Given the description of an element on the screen output the (x, y) to click on. 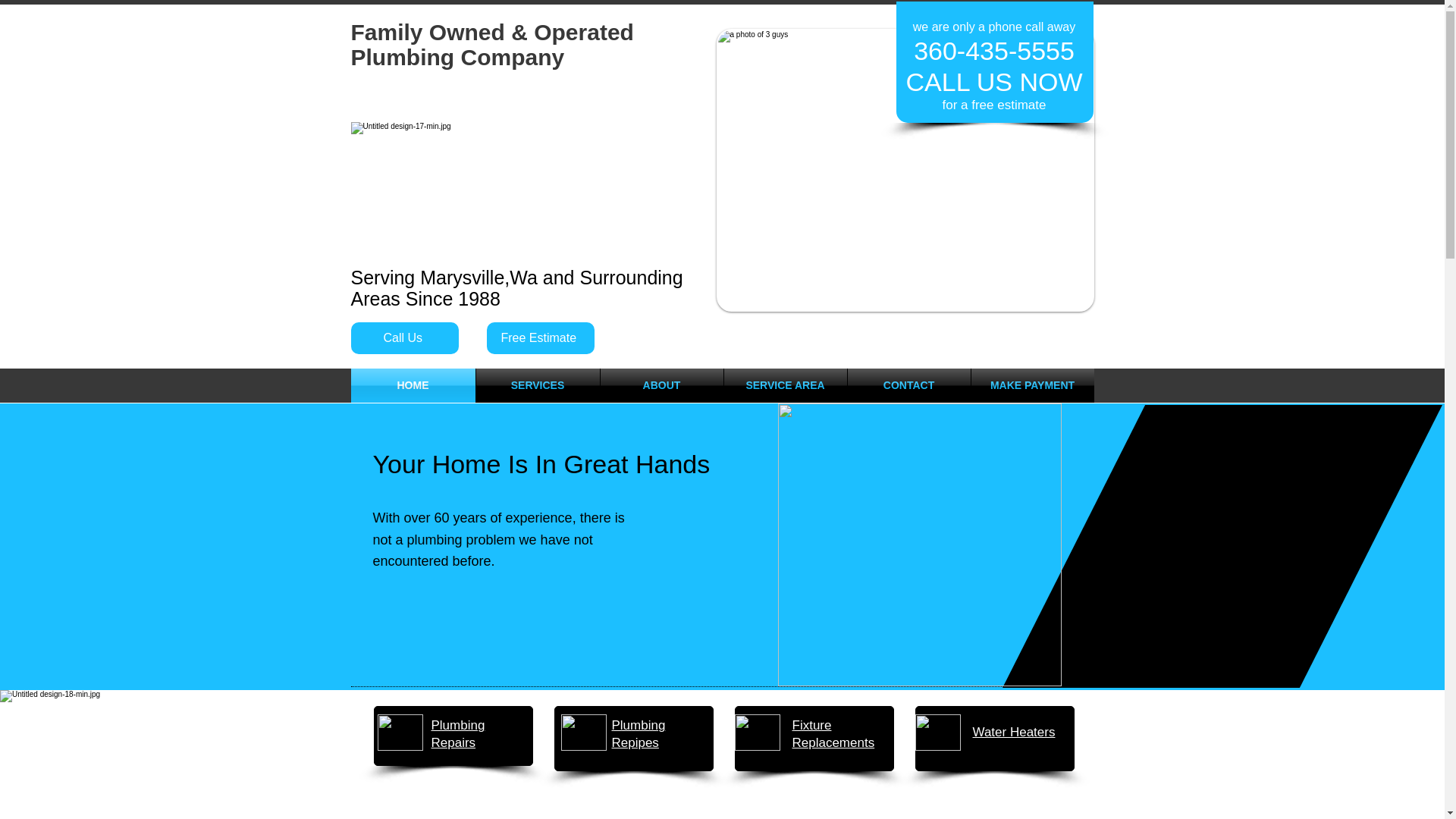
Free Estimate (540, 337)
Plumbing Repipes (638, 733)
Water Heaters (1013, 731)
Plumbing Repairs (457, 733)
Fixture Replacements (833, 733)
SERVICE AREA (784, 385)
ABOUT (661, 385)
360-435-5555 (994, 50)
HOME (412, 385)
Call Us (404, 337)
SERVICES (537, 385)
